Given the description of an element on the screen output the (x, y) to click on. 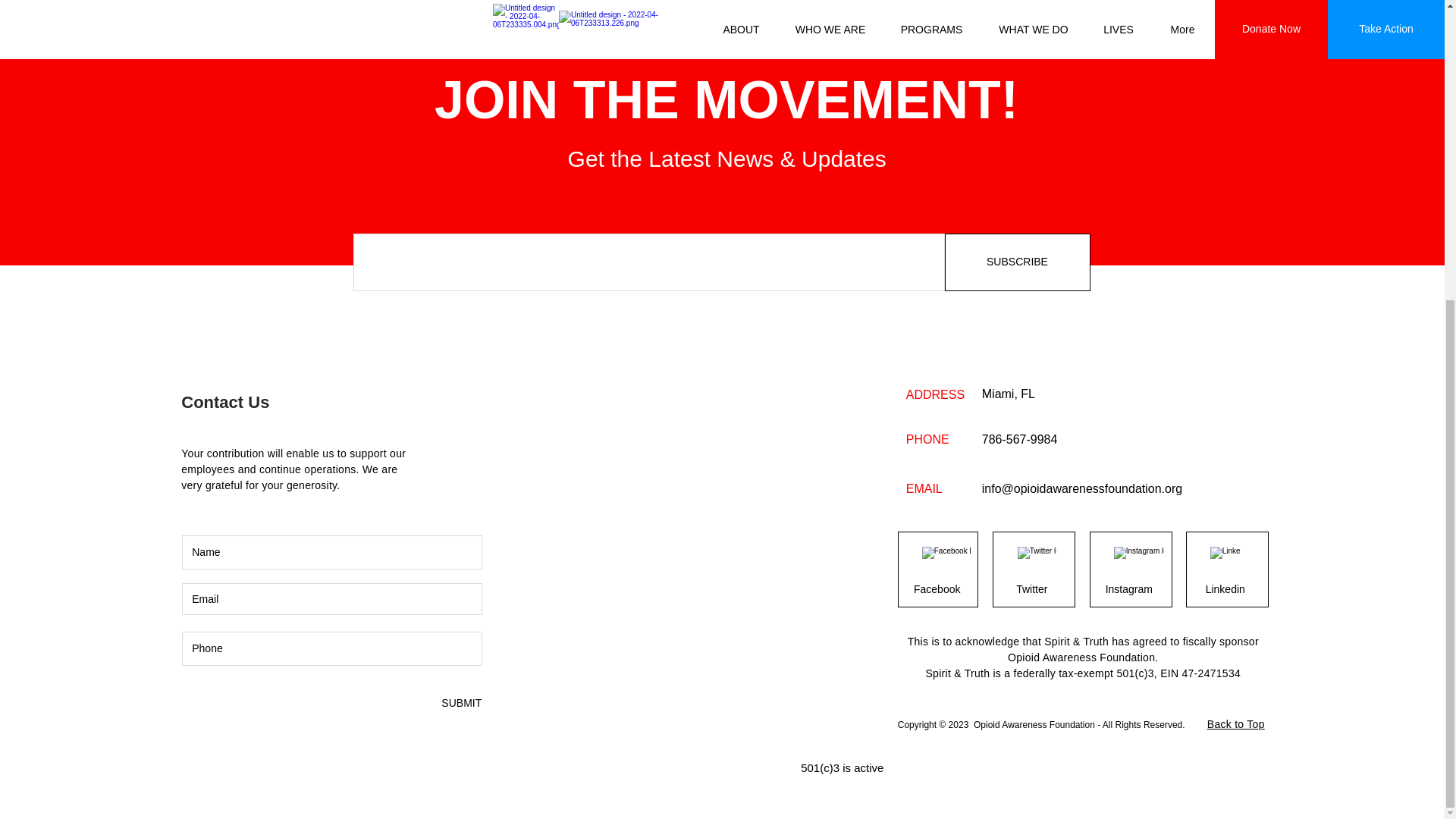
SUBSCRIBE (1017, 262)
Back to Top (1236, 724)
Facebook (936, 589)
SUBMIT (460, 703)
Instagram (1128, 589)
Linkedin (1224, 589)
Twitter (1031, 589)
